Given the description of an element on the screen output the (x, y) to click on. 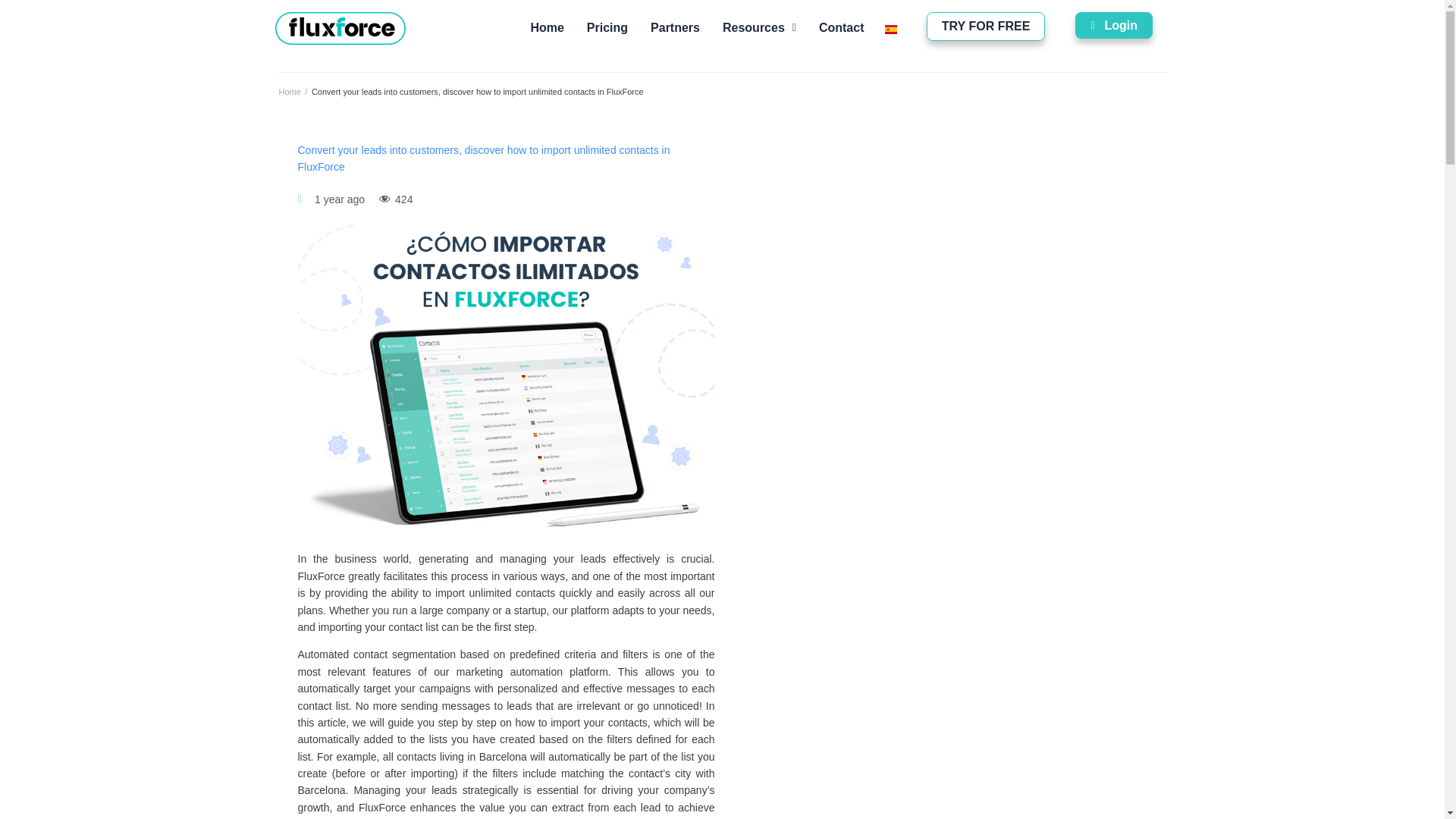
Login (1114, 25)
Pricing (607, 28)
Resources (759, 28)
Contact (842, 28)
Partners (675, 28)
TRY FOR FREE (985, 26)
Home (290, 91)
Home (546, 28)
Home (290, 91)
